Given the description of an element on the screen output the (x, y) to click on. 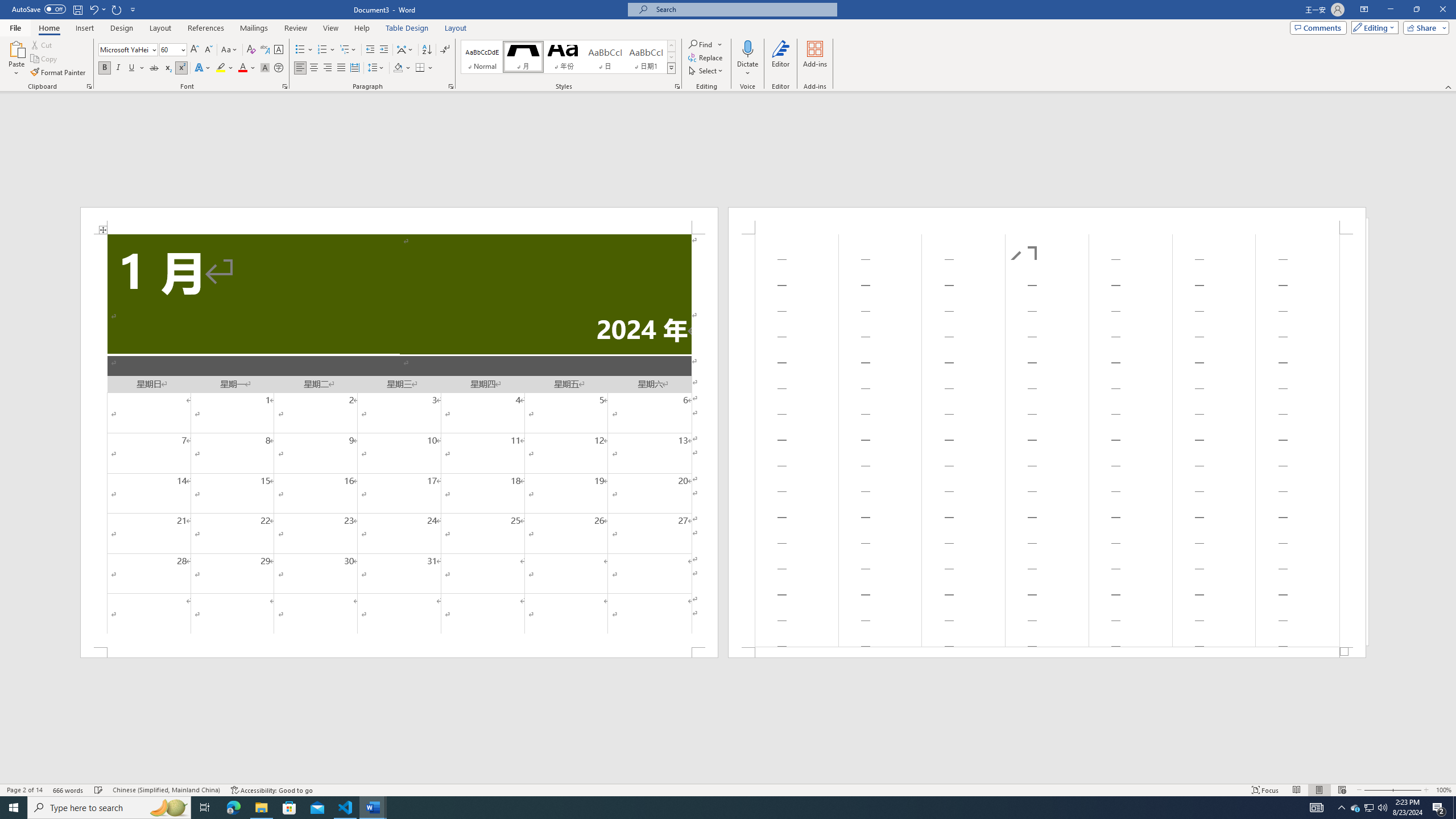
Restore Down (1416, 9)
Subscript (167, 67)
Help (361, 28)
Class: MsoCommandBar (728, 789)
Strikethrough (154, 67)
Align Right (327, 67)
Word Count 666 words (68, 790)
Layout (455, 28)
Align Left (300, 67)
Dictate (747, 58)
Font Color (246, 67)
Distributed (354, 67)
Text Highlight Color (224, 67)
